Given the description of an element on the screen output the (x, y) to click on. 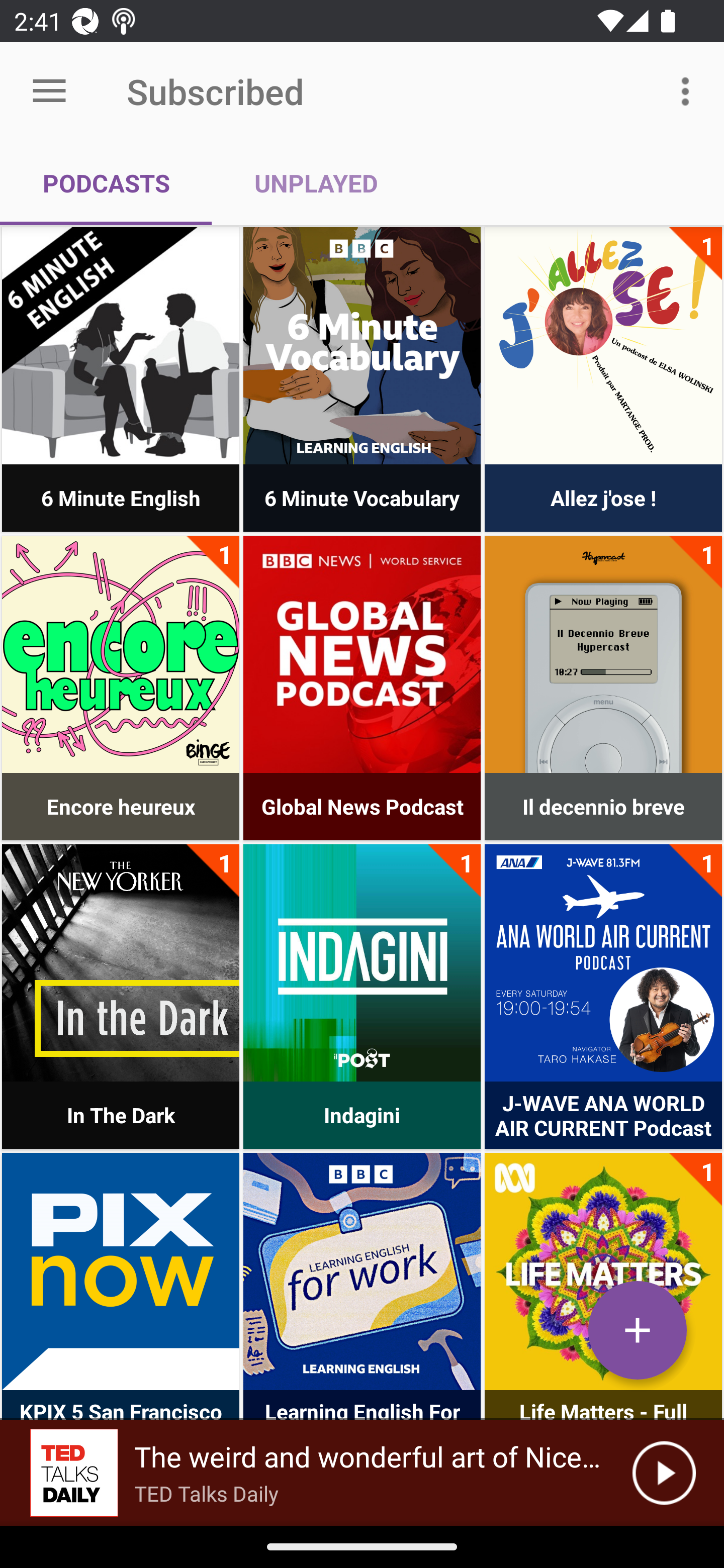
Open menu (49, 91)
More options (688, 90)
PODCASTS (105, 183)
UNPLAYED (315, 183)
6 Minute English (120, 345)
6 Minute Vocabulary (361, 345)
Allez j'ose ! (602, 345)
Encore heureux (120, 654)
Global News Podcast (361, 654)
Il decennio breve (602, 654)
In The Dark (120, 962)
Indagini (361, 962)
J-WAVE ANA WORLD AIR CURRENT Podcast (602, 962)
KPIX 5 San Francisco Bay Area (120, 1271)
Learning English For Work (361, 1271)
Life Matters - Full program podcast (602, 1271)
Play (663, 1472)
